Given the description of an element on the screen output the (x, y) to click on. 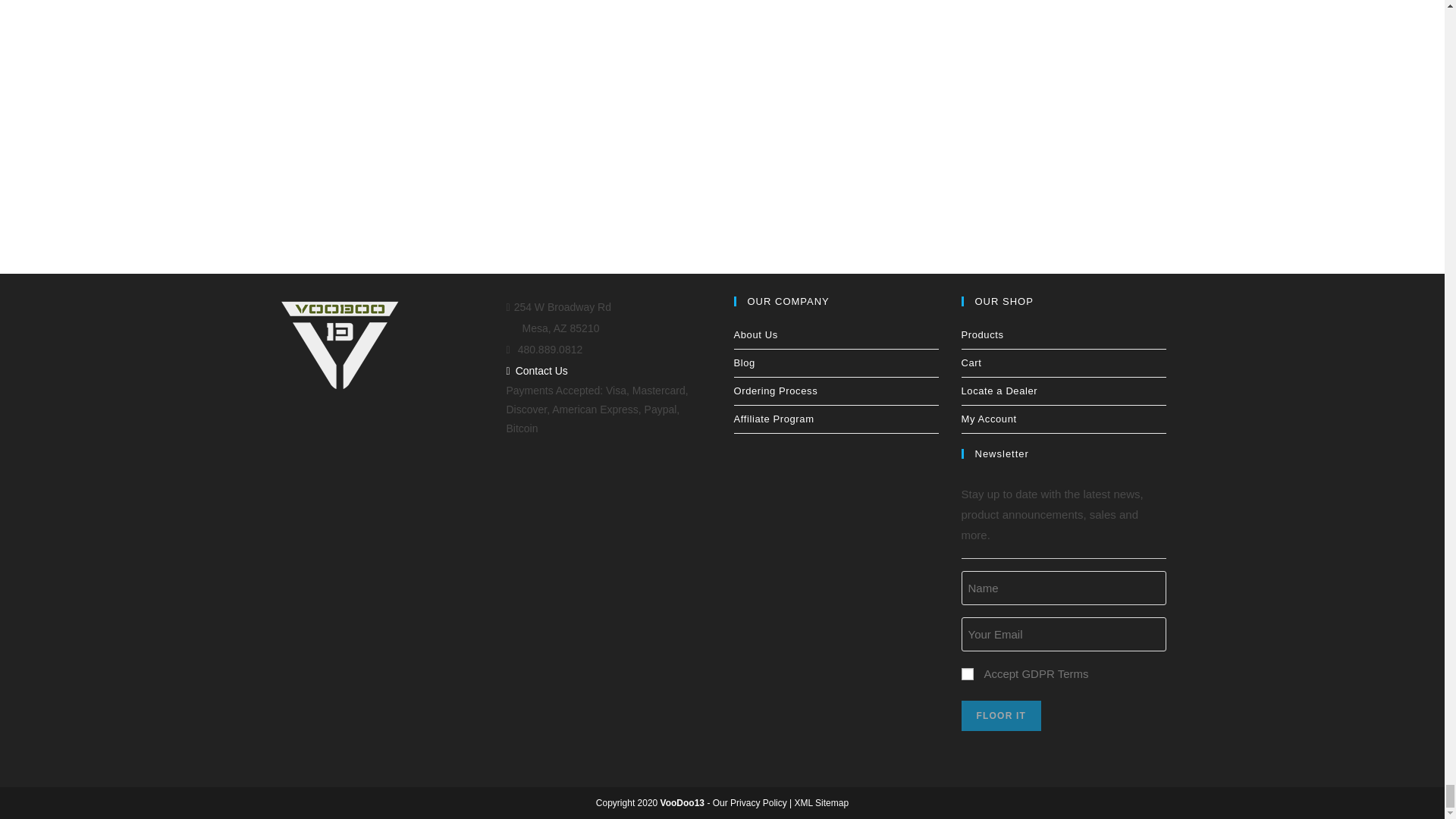
FLOOR IT (1001, 716)
Accept GDPR Terms (967, 674)
